Given the description of an element on the screen output the (x, y) to click on. 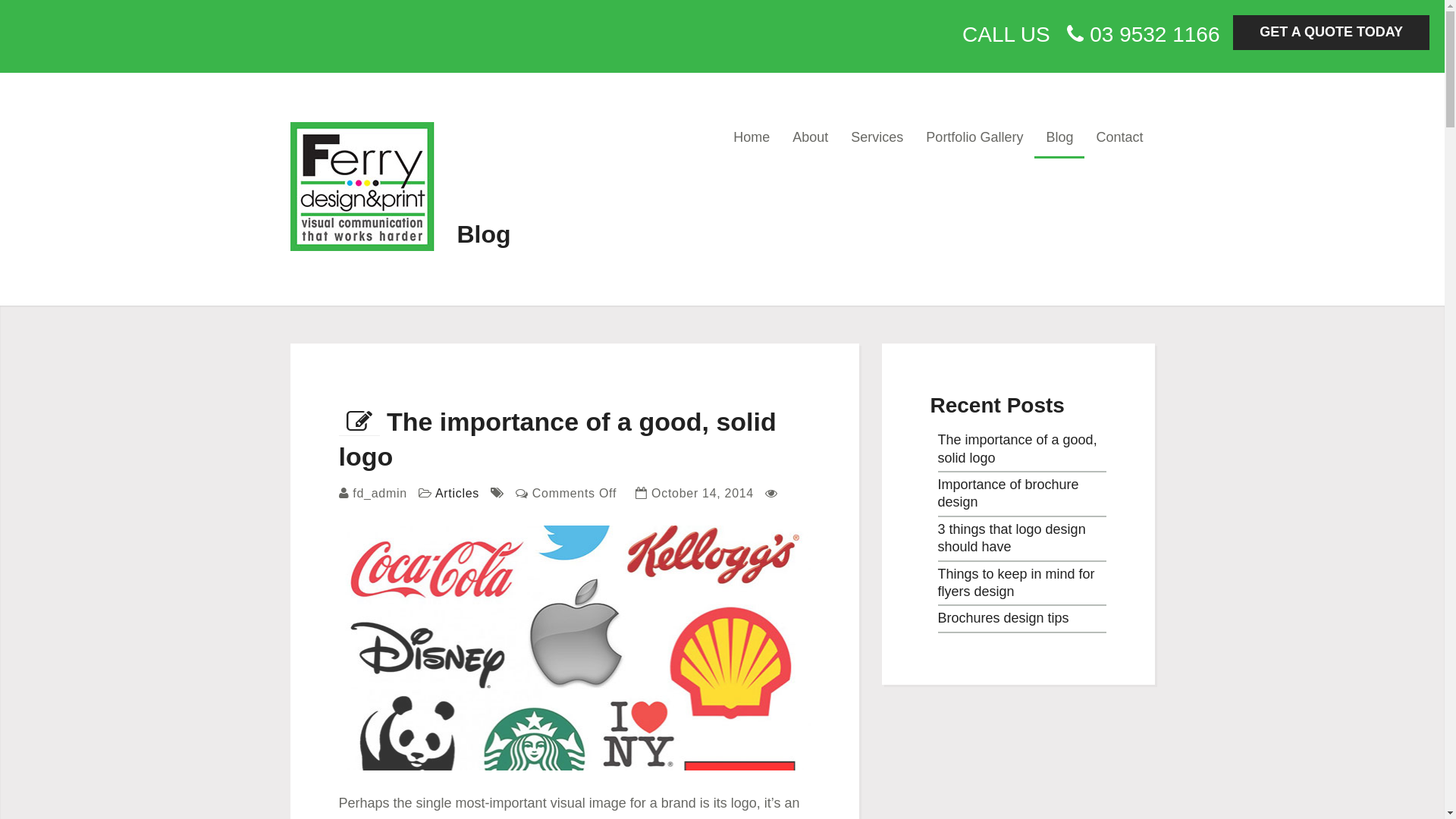
Importance of brochure design Element type: text (1007, 492)
Brochures design tips Element type: text (1002, 617)
Contact Element type: text (1119, 140)
Services Element type: text (876, 140)
Blog Element type: text (1059, 140)
Things to keep in mind for flyers design Element type: text (1015, 582)
GET A QUOTE TODAY Element type: text (1331, 32)
3 things that logo design should have Element type: text (1011, 537)
Articles Element type: text (457, 492)
The importance of a good, solid logo Element type: text (556, 438)
Home Element type: text (751, 140)
Portfolio Gallery Element type: text (974, 140)
About Element type: text (810, 140)
The importance of a good, solid logo Element type: text (1016, 448)
